Given the description of an element on the screen output the (x, y) to click on. 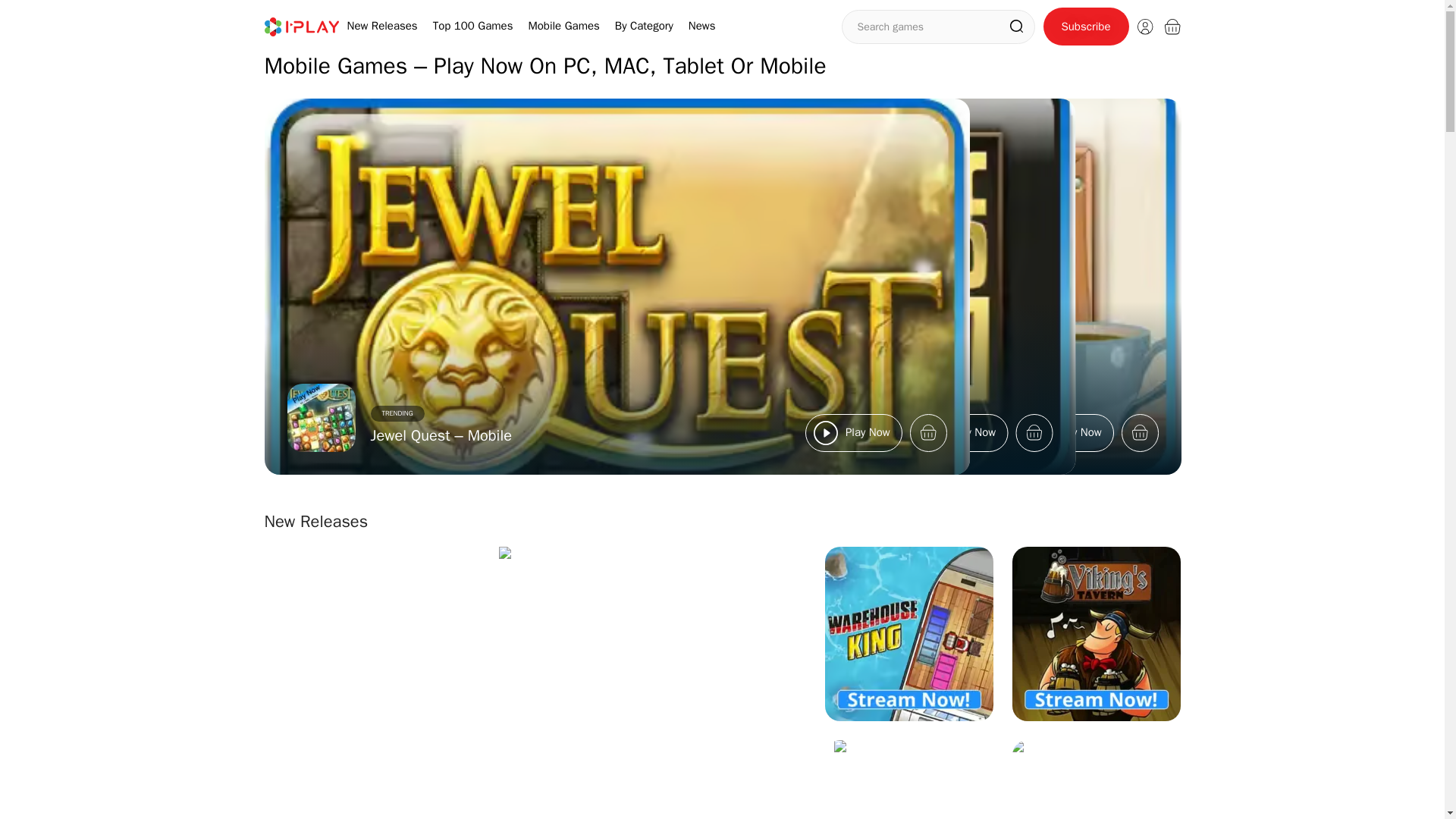
Mobile Games (562, 25)
Search (1017, 26)
By Category (643, 25)
Top 100 Games (472, 25)
Search (1017, 26)
Search (1017, 26)
Subscribe (1086, 26)
News (702, 25)
Play Now (851, 432)
Daily Jigsaw (622, 434)
